Given the description of an element on the screen output the (x, y) to click on. 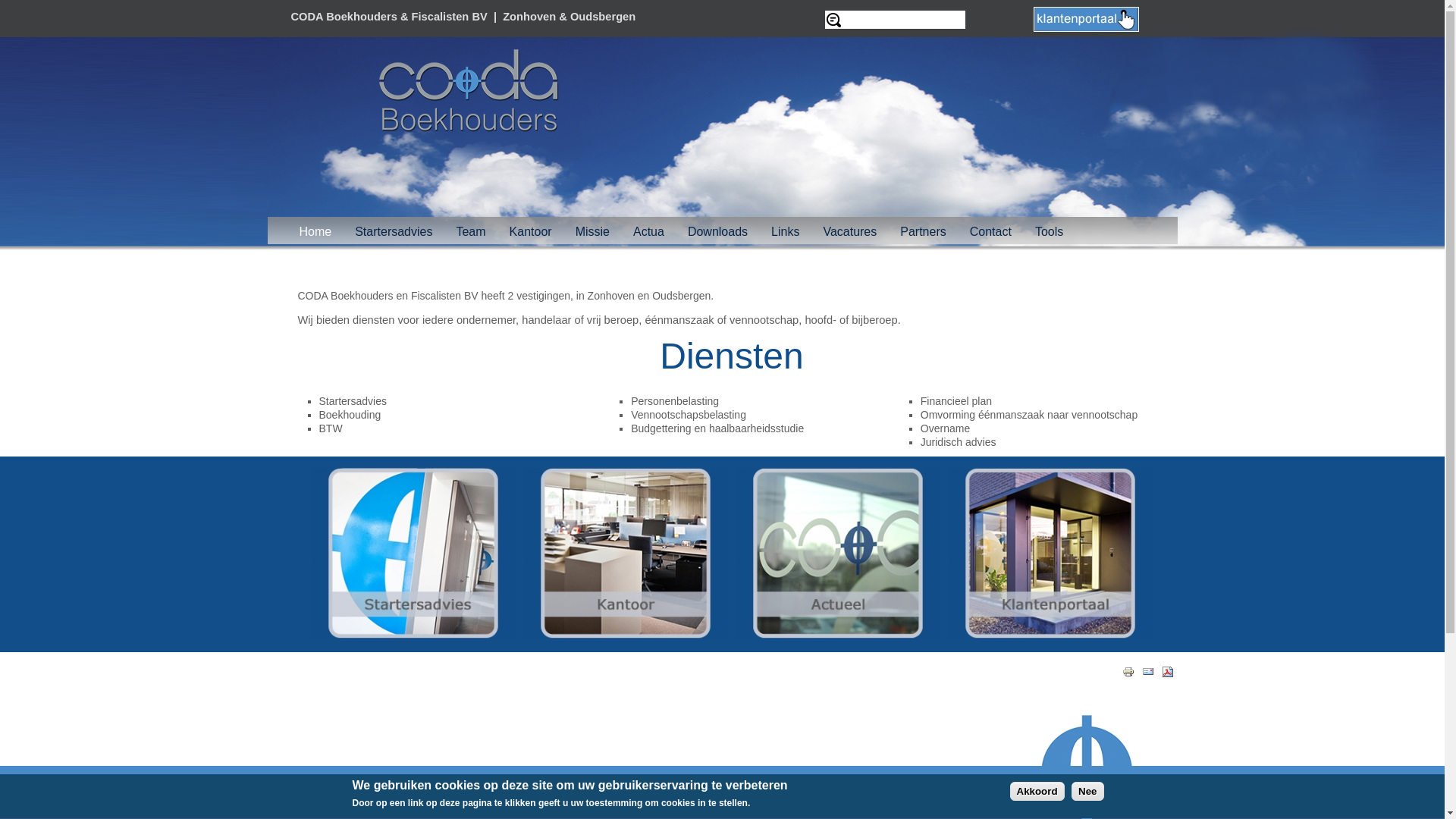
Zoeken Element type: text (15, 9)
Stuur naar een vriend Element type: hover (1148, 671)
startersadvies Element type: hover (412, 553)
Actua Element type: hover (837, 553)
Home Element type: text (314, 231)
klantenportaal Element type: hover (1049, 553)
Geef de woorden op waarnaar u wilt zoeken. Element type: hover (895, 19)
Partners Element type: text (922, 231)
Print-vriendelijke versie Element type: hover (1128, 671)
Team Element type: text (470, 231)
Verstuur deze pagina via e-mail. Element type: hover (1148, 670)
Tools Element type: text (1049, 231)
Actua Element type: text (648, 231)
PDF versie Element type: hover (1167, 671)
KLANTENPORTAAL Element type: hover (1085, 18)
Links Element type: text (785, 231)
Vacatures Element type: text (849, 231)
kantoor CODA Element type: hover (625, 553)
Akkoord Element type: text (1037, 790)
Missie Element type: text (592, 231)
Toon een PDF versie van deze pagina. Element type: hover (1167, 670)
Startersadvies Element type: text (393, 231)
Downloads Element type: text (717, 231)
<p>startersadvies</p> Element type: hover (412, 635)
Toon een print-vriendelijke versie van deze pagina. Element type: hover (1128, 670)
Kantoor Element type: text (530, 231)
Contact Element type: text (990, 231)
Nee Element type: text (1087, 790)
